Given the description of an element on the screen output the (x, y) to click on. 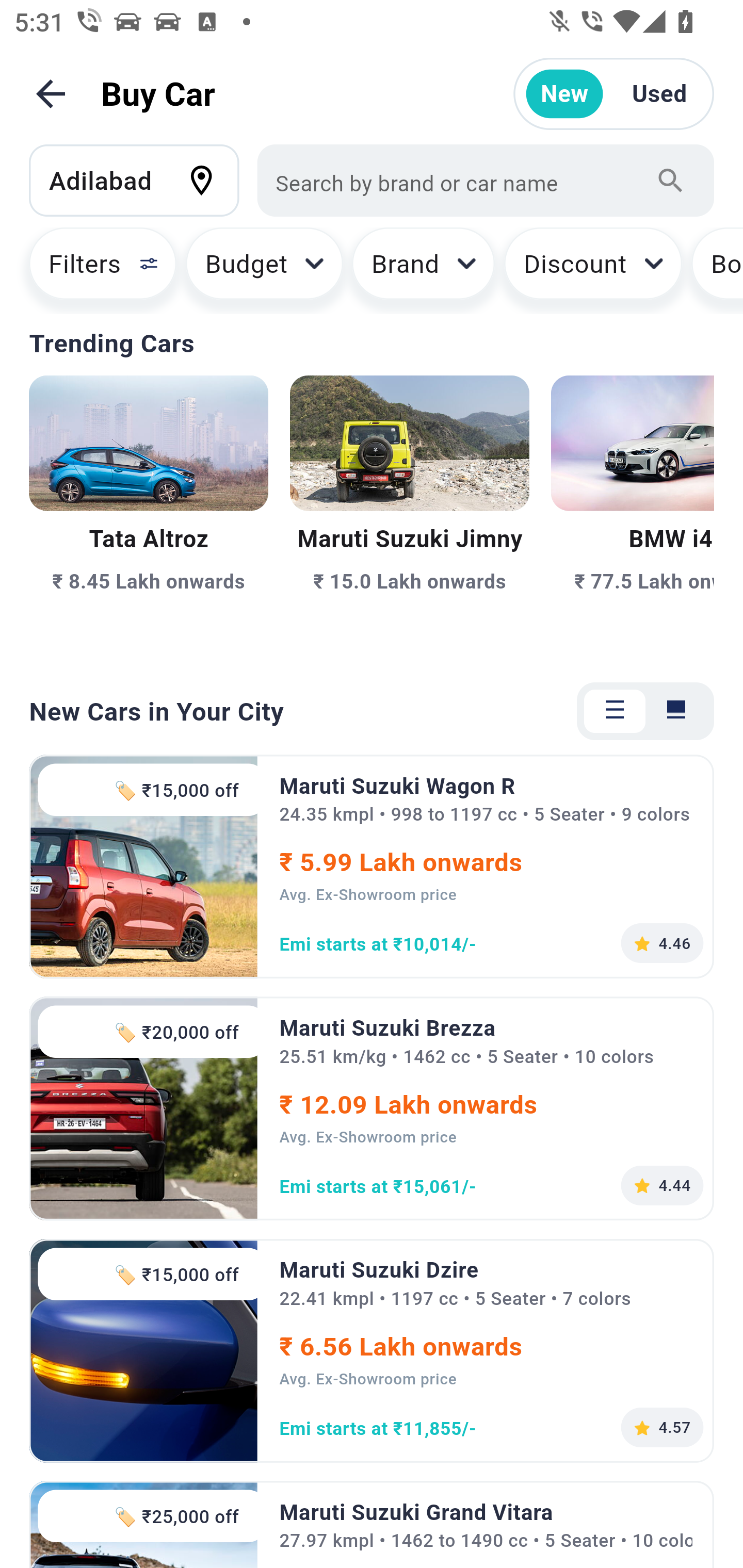
Back (50, 93)
New (564, 93)
Used (659, 93)
Adilabad (142, 180)
Filters (93, 270)
Budget (264, 270)
Brand (423, 270)
Discount (592, 270)
₹ 8.45 Lakh onwards Tata Altroz (148, 515)
₹ 15.0 Lakh onwards Maruti Suzuki Jimny (409, 515)
₹ 77.5 Lakh onwards BMW i4 (632, 515)
Tab 1 of 2 (614, 710)
Tab 2 of 2 (675, 710)
